Given the description of an element on the screen output the (x, y) to click on. 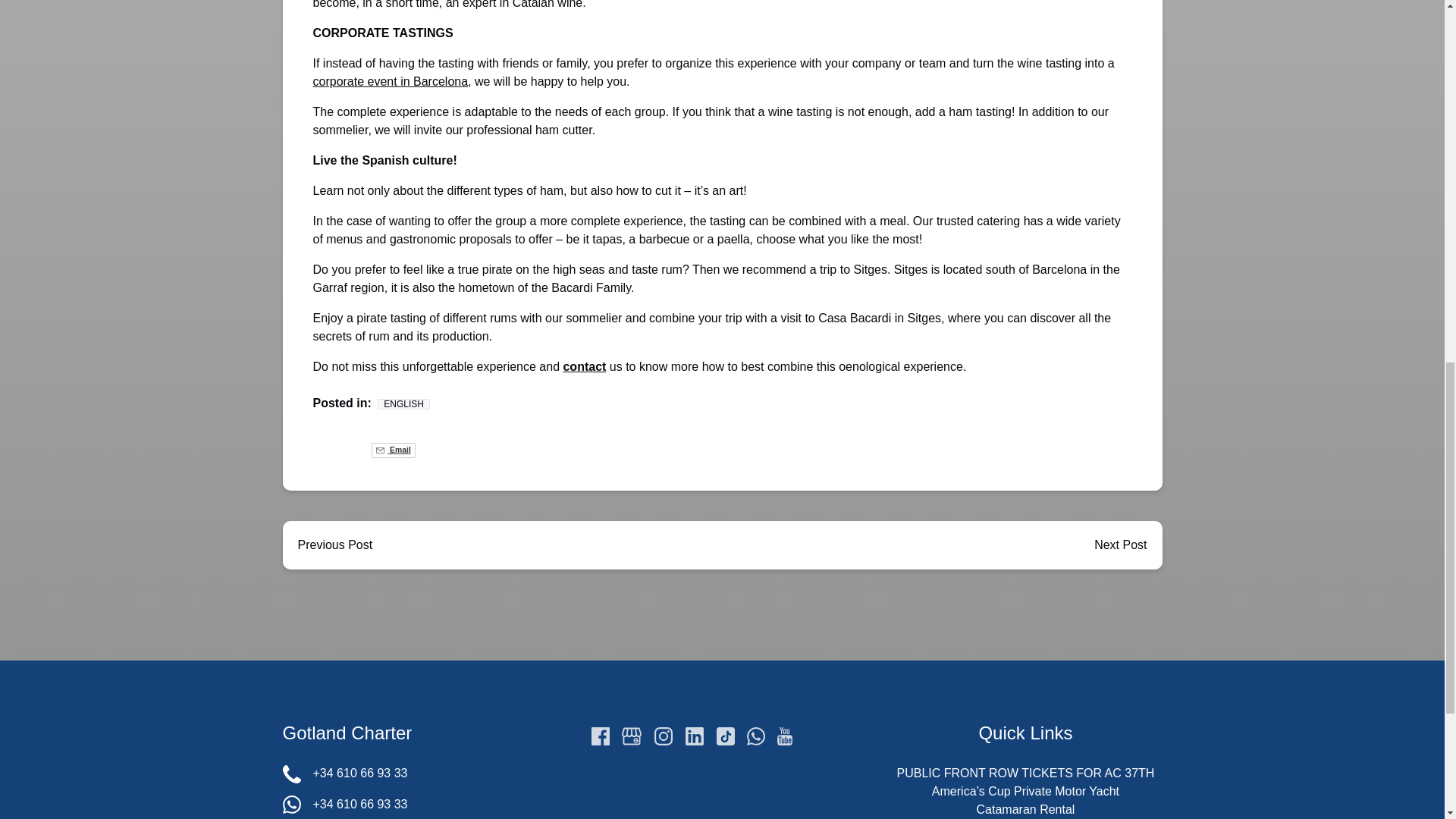
Phone (290, 773)
contact (583, 366)
corporate event in Barcelona (390, 81)
